Given the description of an element on the screen output the (x, y) to click on. 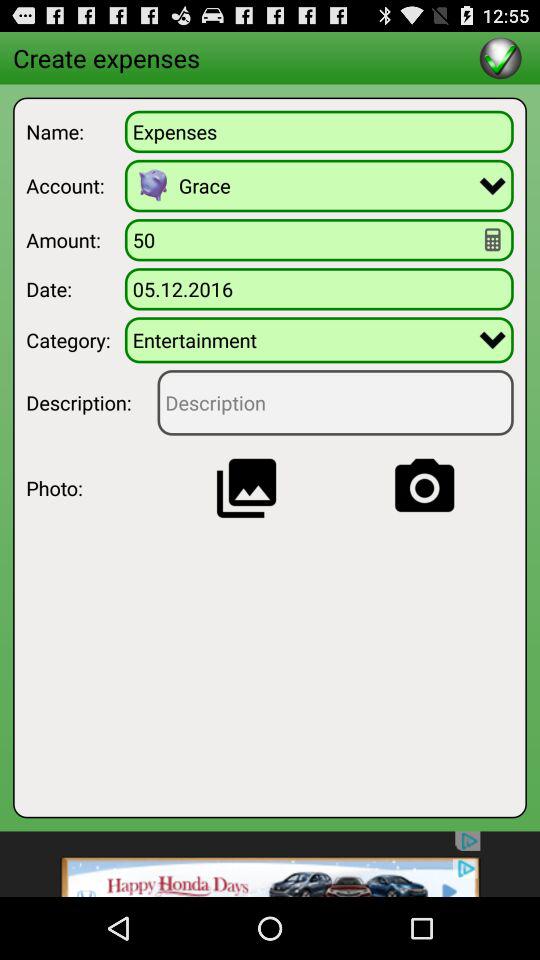
take photo from camera (424, 488)
